Given the description of an element on the screen output the (x, y) to click on. 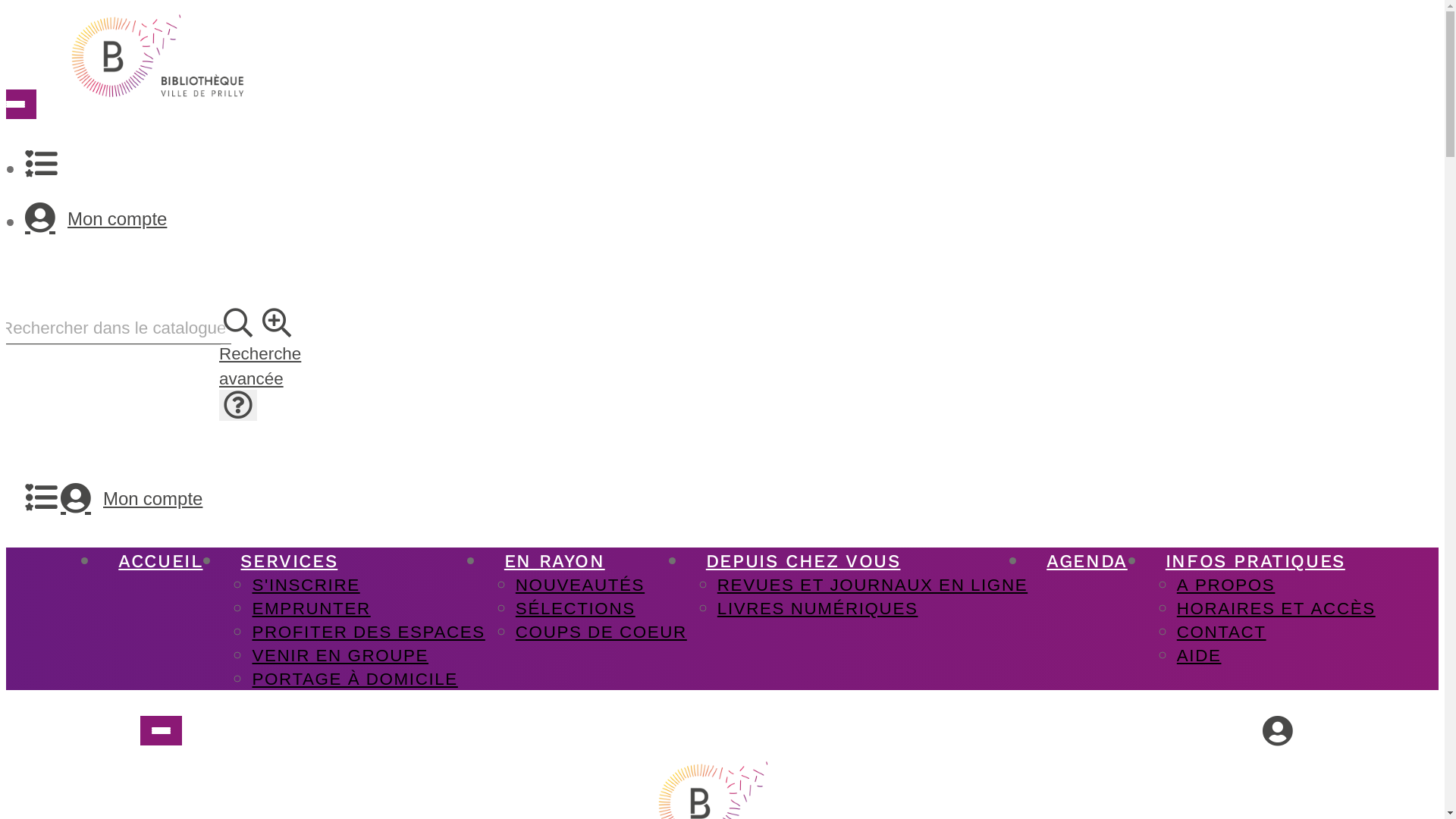
VENIR EN GROUPE Element type: text (339, 654)
AGENDA Element type: text (1086, 561)
PROFITER DES ESPACES Element type: text (367, 631)
ACCUEIL Element type: text (160, 561)
AIDE Element type: text (1198, 654)
Lancer la recherche Element type: hover (238, 323)
opac menu Element type: text (161, 730)
Consulter l'aide de la recherche Element type: hover (238, 404)
CONTACT Element type: text (1221, 631)
EMPRUNTER Element type: text (310, 607)
Mon compte Element type: text (131, 497)
SERVICES Element type: text (288, 561)
S'INSCRIRE Element type: text (305, 584)
DEPUIS CHEZ VOUS Element type: text (803, 561)
INFOS PRATIQUES Element type: text (1255, 561)
COUPS DE COEUR Element type: text (601, 631)
A PROPOS Element type: text (1225, 584)
EN RAYON Element type: text (554, 561)
Mon compte Element type: text (726, 217)
REVUES ET JOURNAUX EN LIGNE Element type: text (872, 584)
